Given the description of an element on the screen output the (x, y) to click on. 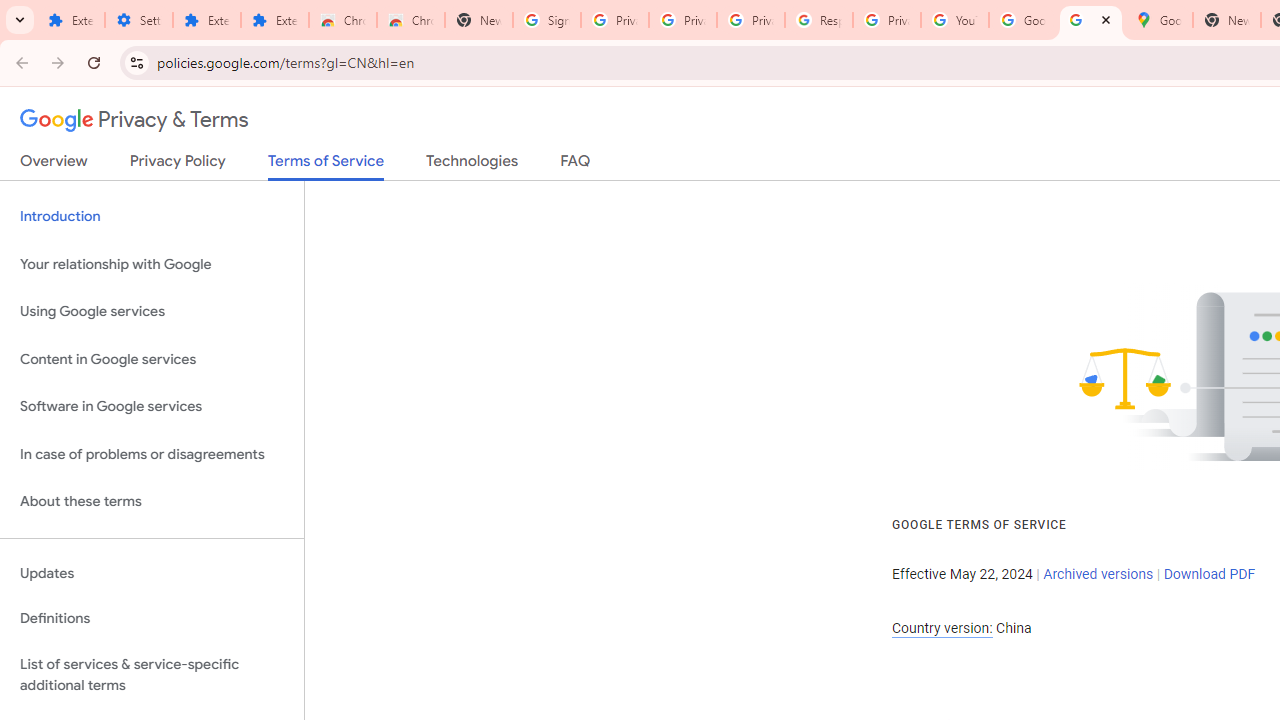
Extensions (206, 20)
Your relationship with Google (152, 263)
List of services & service-specific additional terms (152, 674)
Introduction (152, 216)
Archived versions (1098, 574)
Content in Google services (152, 358)
